Given the description of an element on the screen output the (x, y) to click on. 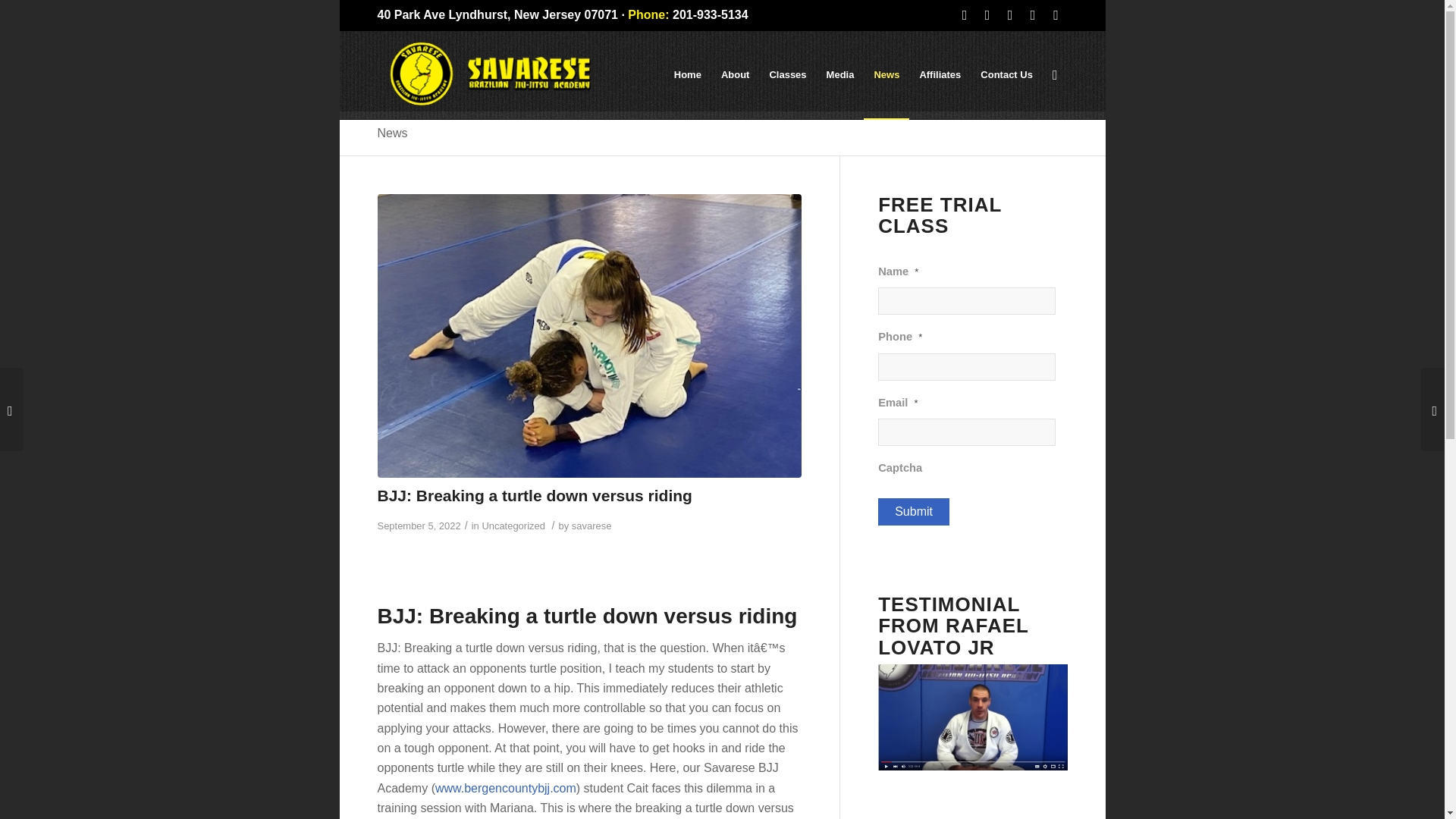
BJJ: Breaking a turtle down versus riding (535, 495)
Permanent Link: News (392, 132)
News (392, 132)
Uncategorized (512, 525)
savarese (591, 525)
Posts by savarese (591, 525)
www.bergencountybjj.com (505, 788)
Permanent Link: BJJ: Breaking a turtle down versus riding (535, 495)
201-933-5134 (710, 14)
